Given the description of an element on the screen output the (x, y) to click on. 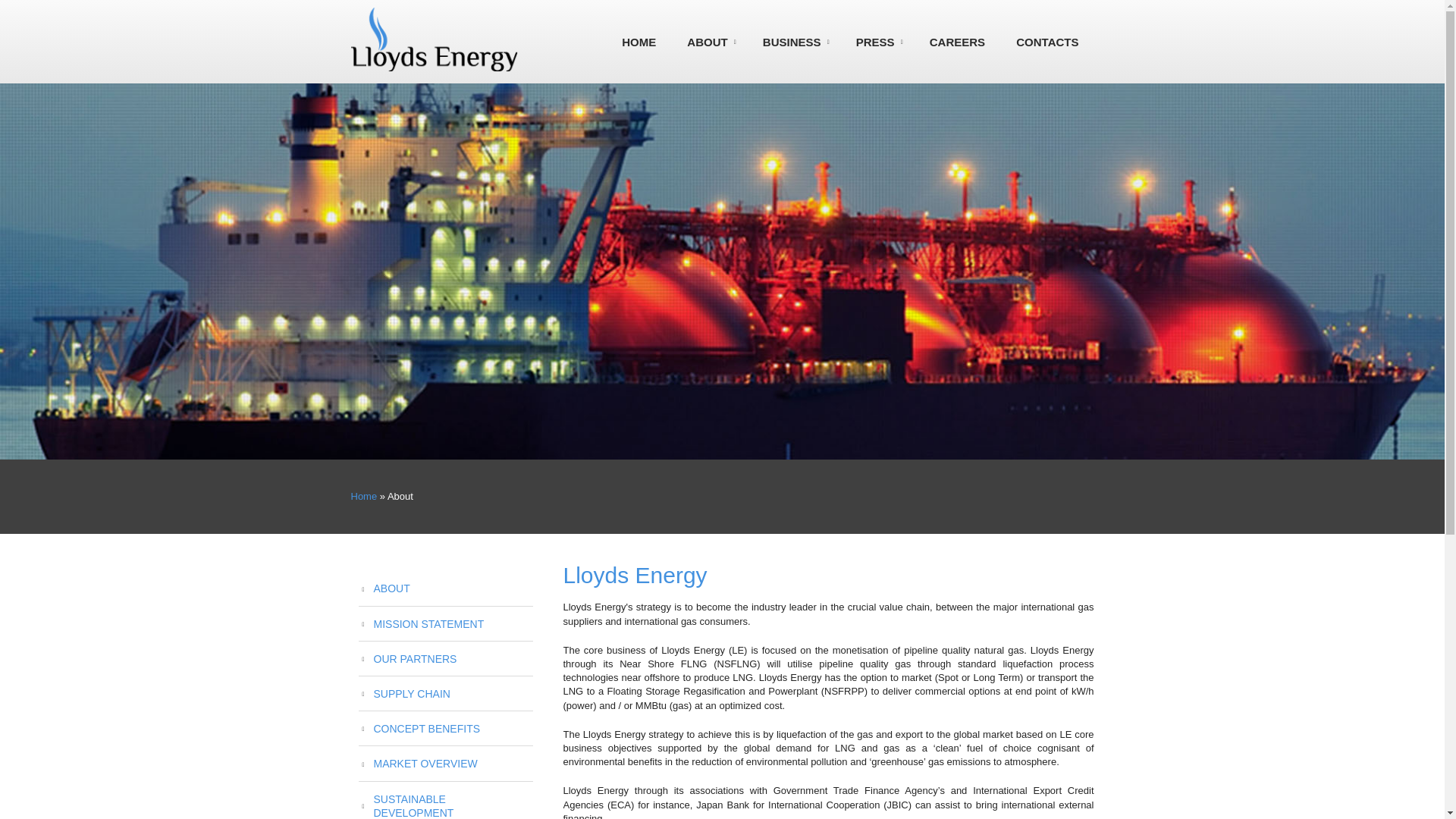
MARKET OVERVIEW (445, 763)
CONTACTS (1047, 42)
SUPPLY CHAIN (445, 693)
MISSION STATEMENT (445, 623)
HOME (639, 42)
ABOUT (706, 42)
Home (363, 496)
ABOUT (445, 588)
OUR PARTNERS (445, 658)
BUSINESS (791, 42)
